Given the description of an element on the screen output the (x, y) to click on. 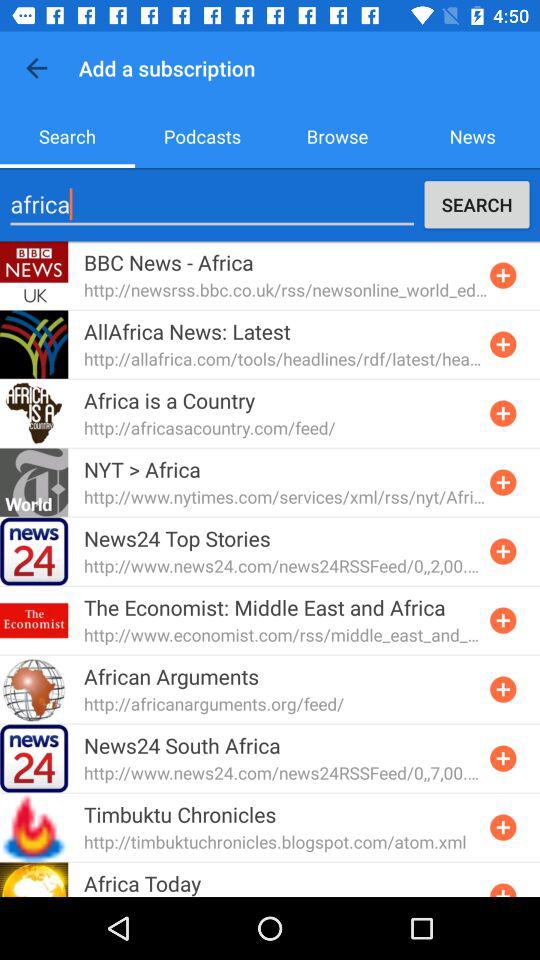
expand the feed (503, 413)
